Given the description of an element on the screen output the (x, y) to click on. 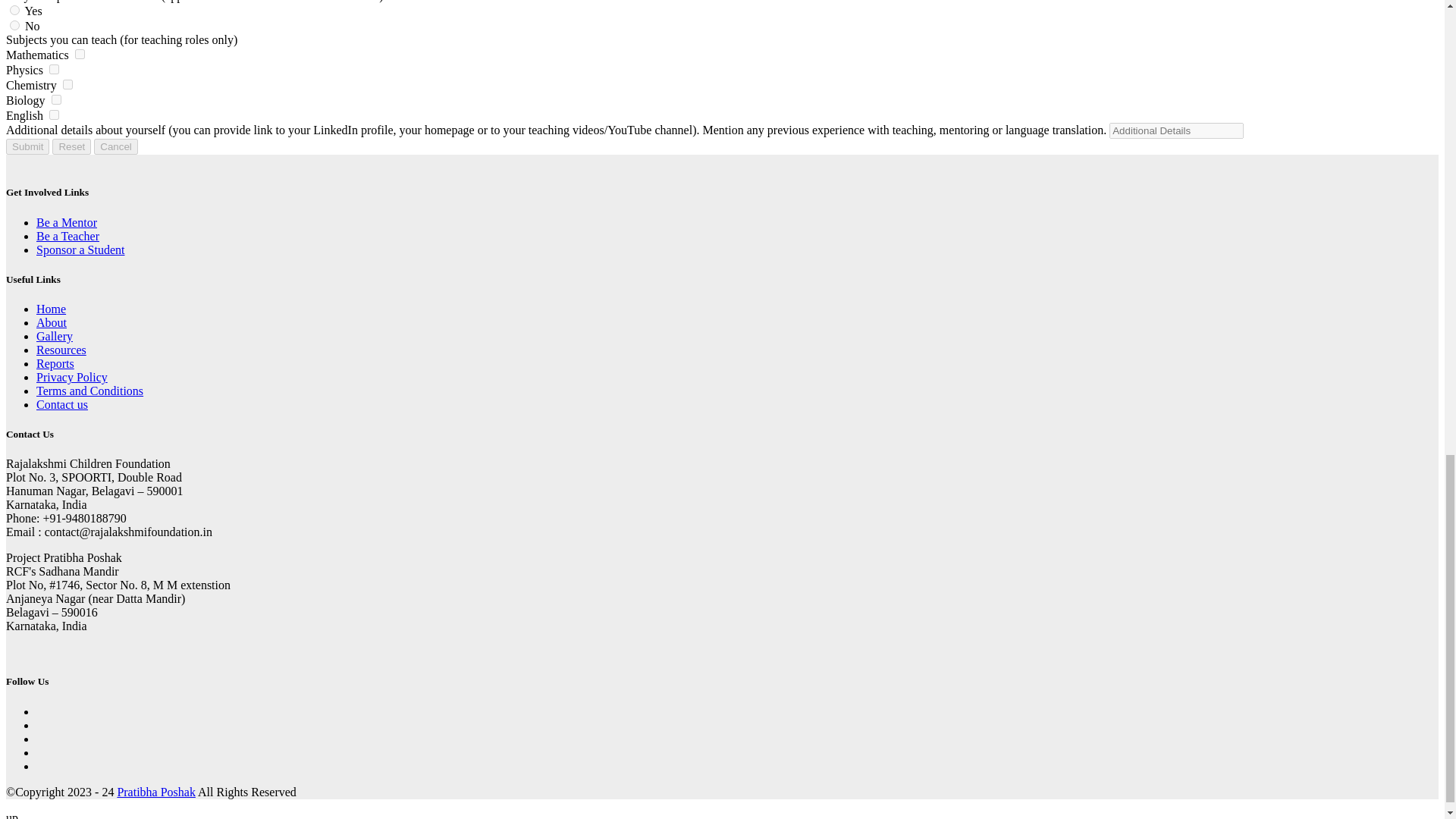
Privacy Policy (71, 377)
Yes (15, 9)
Cancel (116, 146)
Gallery (54, 336)
Be a Teacher (67, 236)
About (51, 322)
Be a Mentor (66, 222)
No (15, 25)
Reports (55, 363)
Contact us (61, 404)
Reset (71, 146)
Terms and Conditions (89, 390)
Resources (60, 349)
Pratibha Poshak (155, 791)
Home (50, 308)
